Given the description of an element on the screen output the (x, y) to click on. 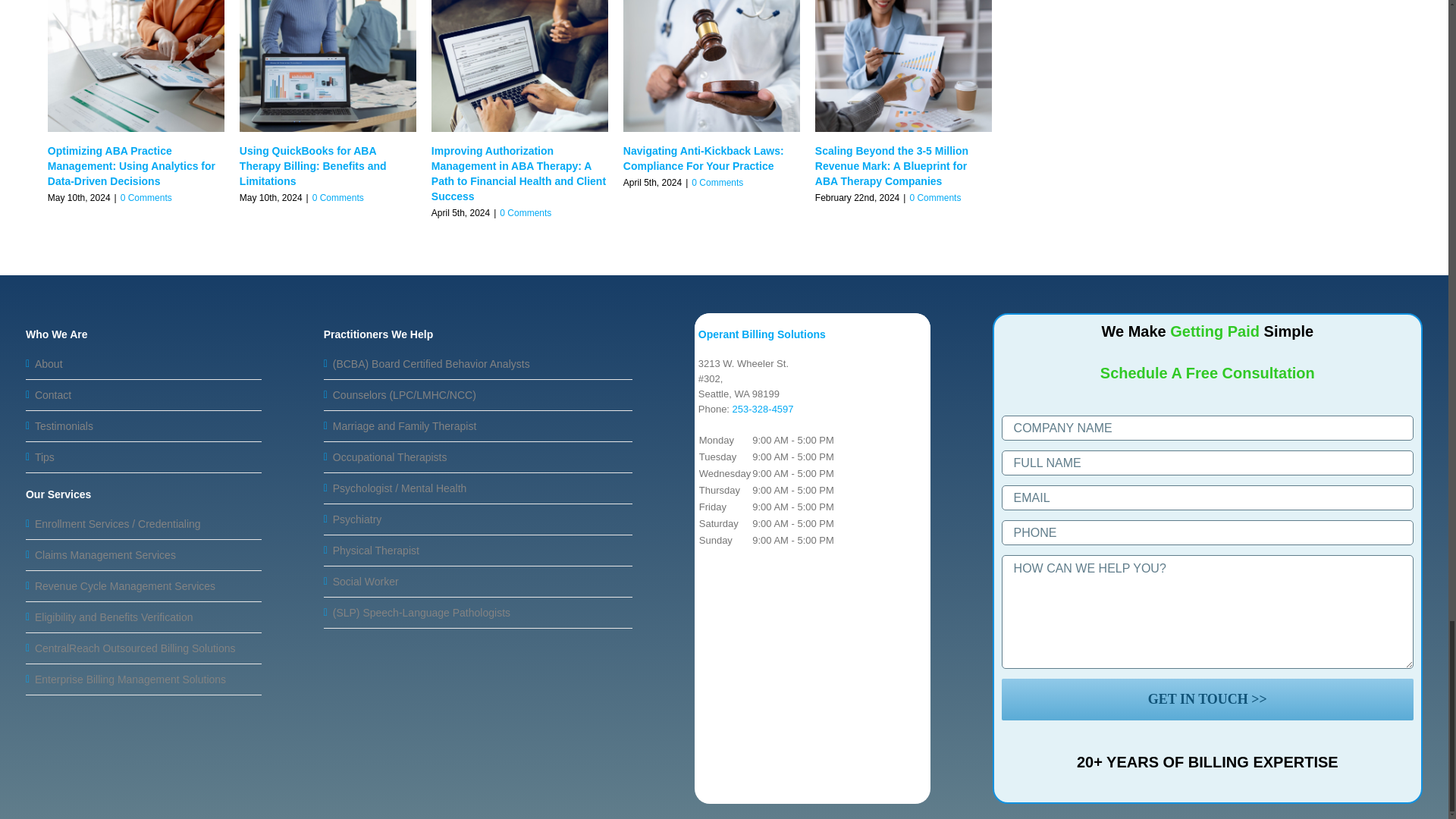
Navigating Anti-Kickback Laws: Compliance For Your Practice (703, 157)
